Given the description of an element on the screen output the (x, y) to click on. 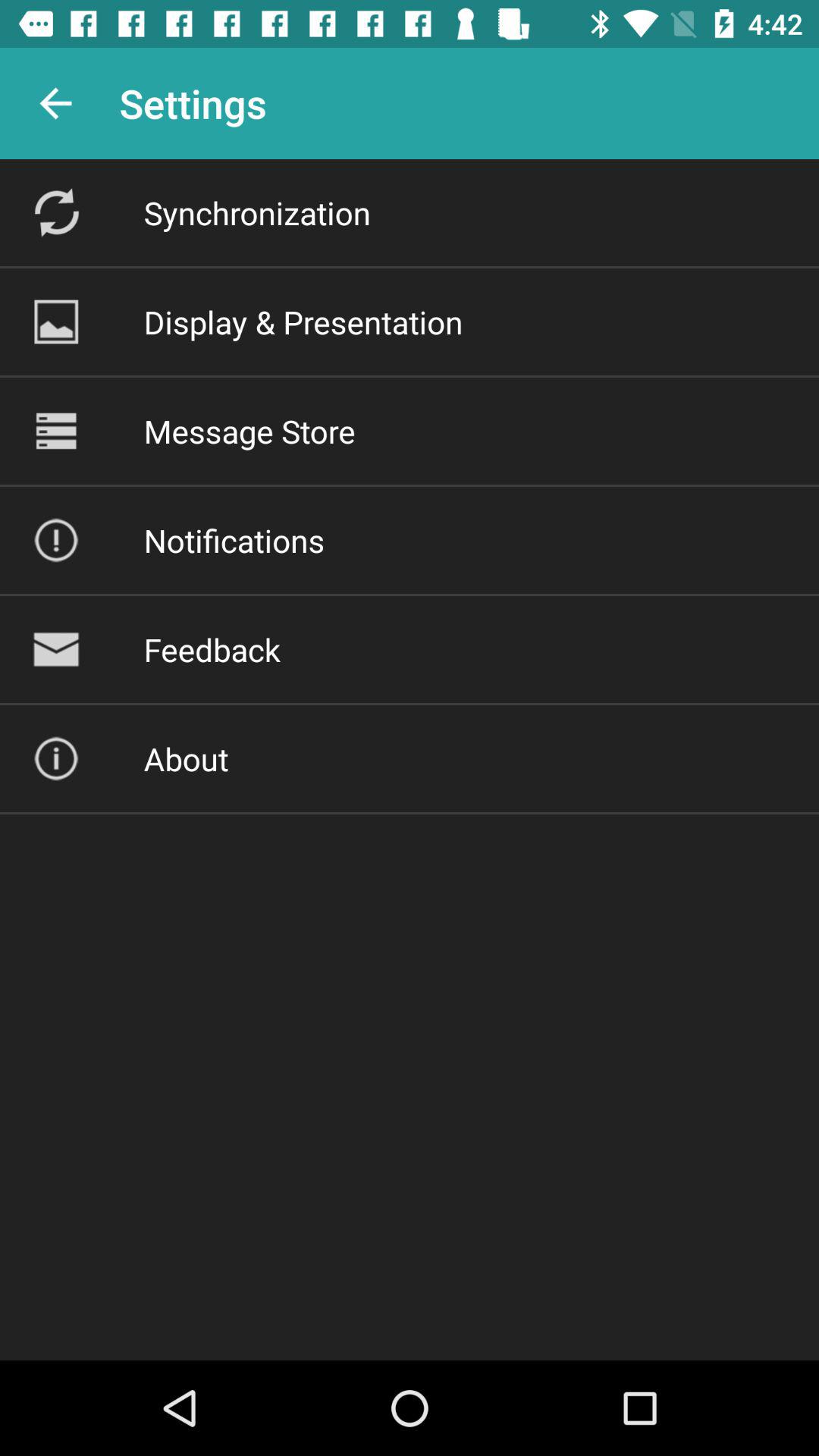
launch icon above message store (302, 321)
